Given the description of an element on the screen output the (x, y) to click on. 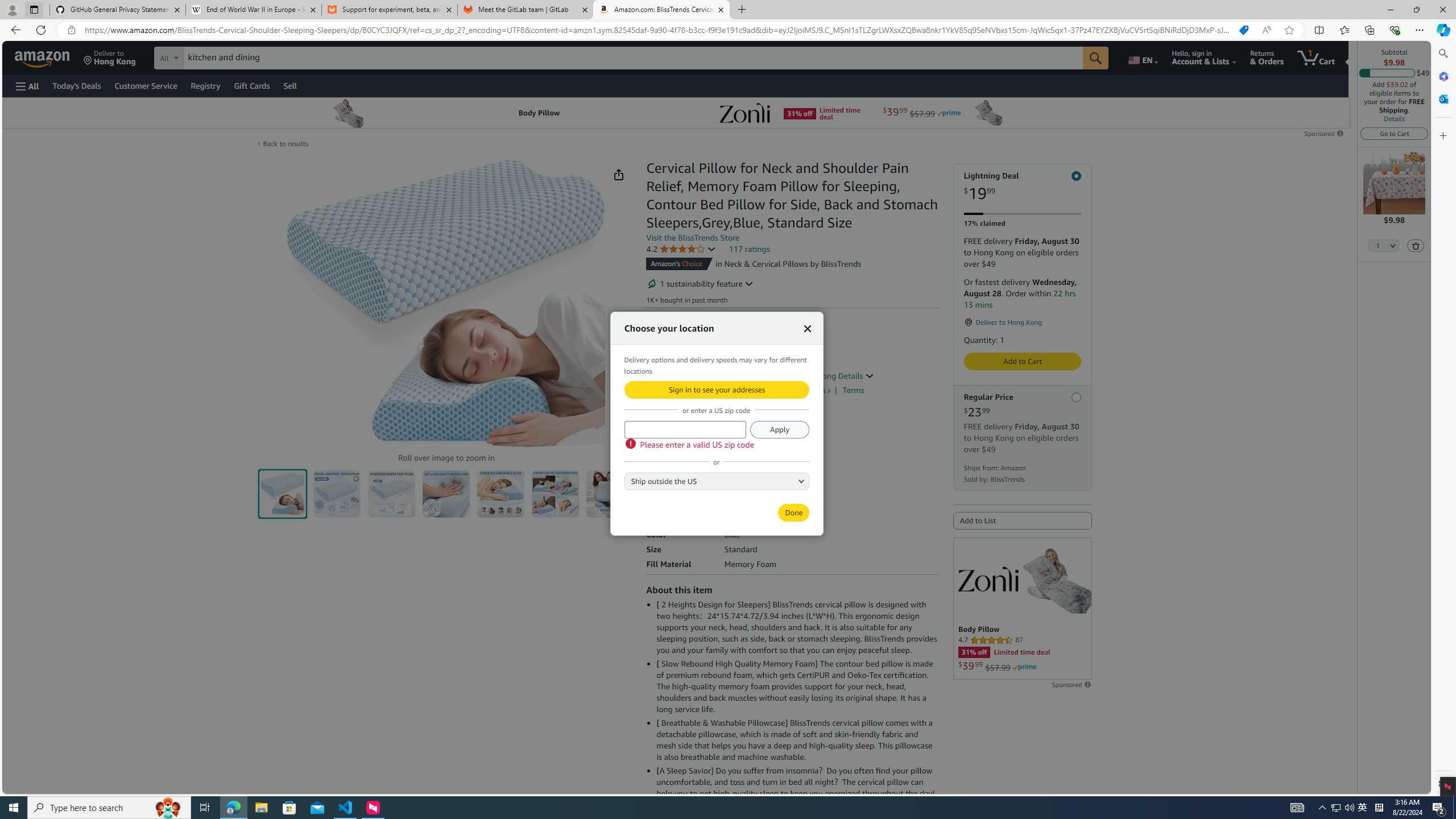
Quantity Selector (1383, 246)
Apply (779, 429)
Today's Deals (76, 85)
Back to results (285, 144)
Sign in to see your addresses (716, 389)
Search in (210, 56)
Terms (852, 389)
